Given the description of an element on the screen output the (x, y) to click on. 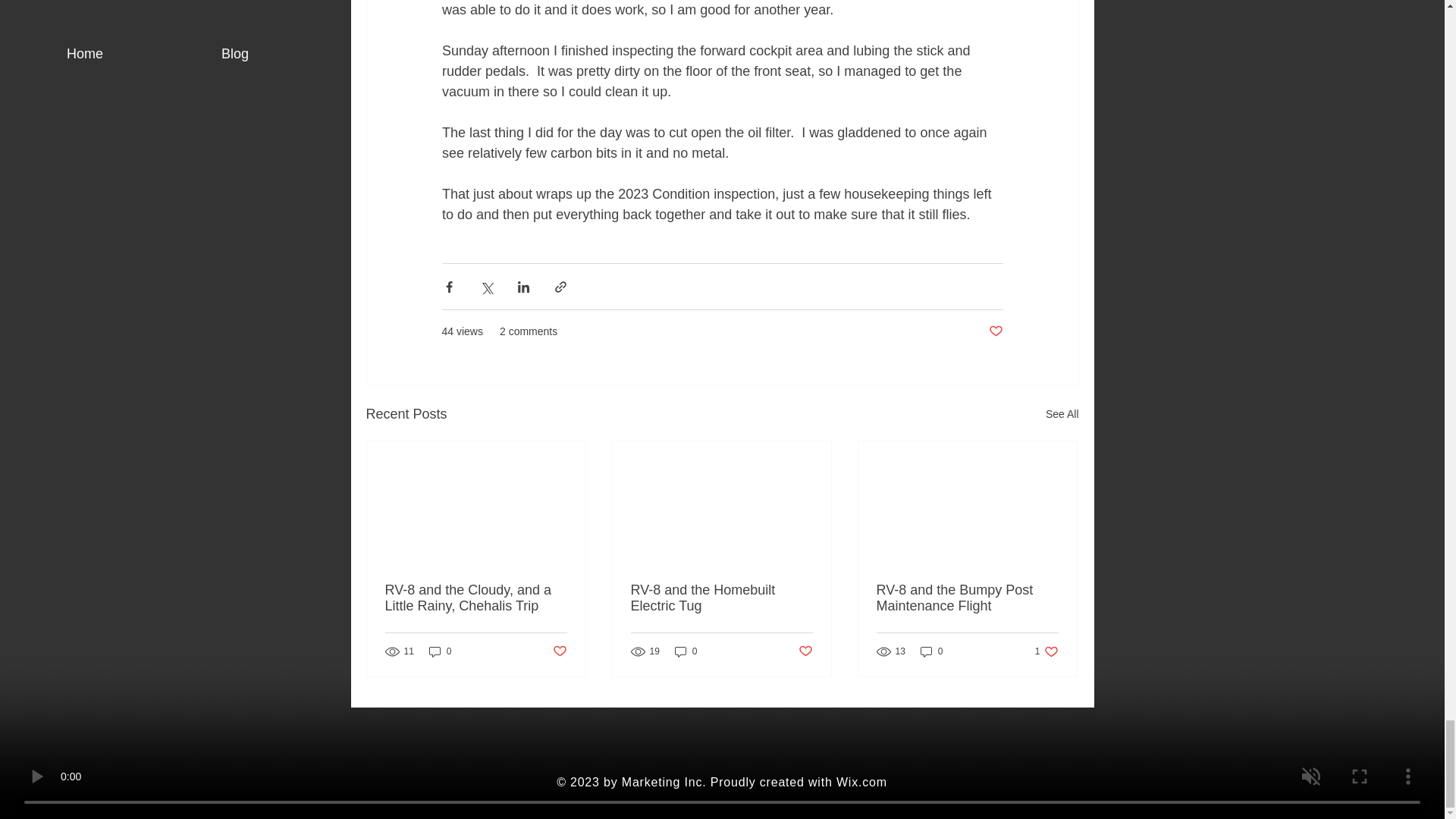
0 (685, 651)
0 (440, 651)
See All (1061, 414)
Post not marked as liked (995, 331)
RV-8 and the Cloudy, and a Little Rainy, Chehalis Trip (1046, 651)
RV-8 and the Bumpy Post Maintenance Flight (476, 598)
Wix.com (967, 598)
Post not marked as liked (860, 781)
RV-8 and the Homebuilt Electric Tug (804, 651)
